Given the description of an element on the screen output the (x, y) to click on. 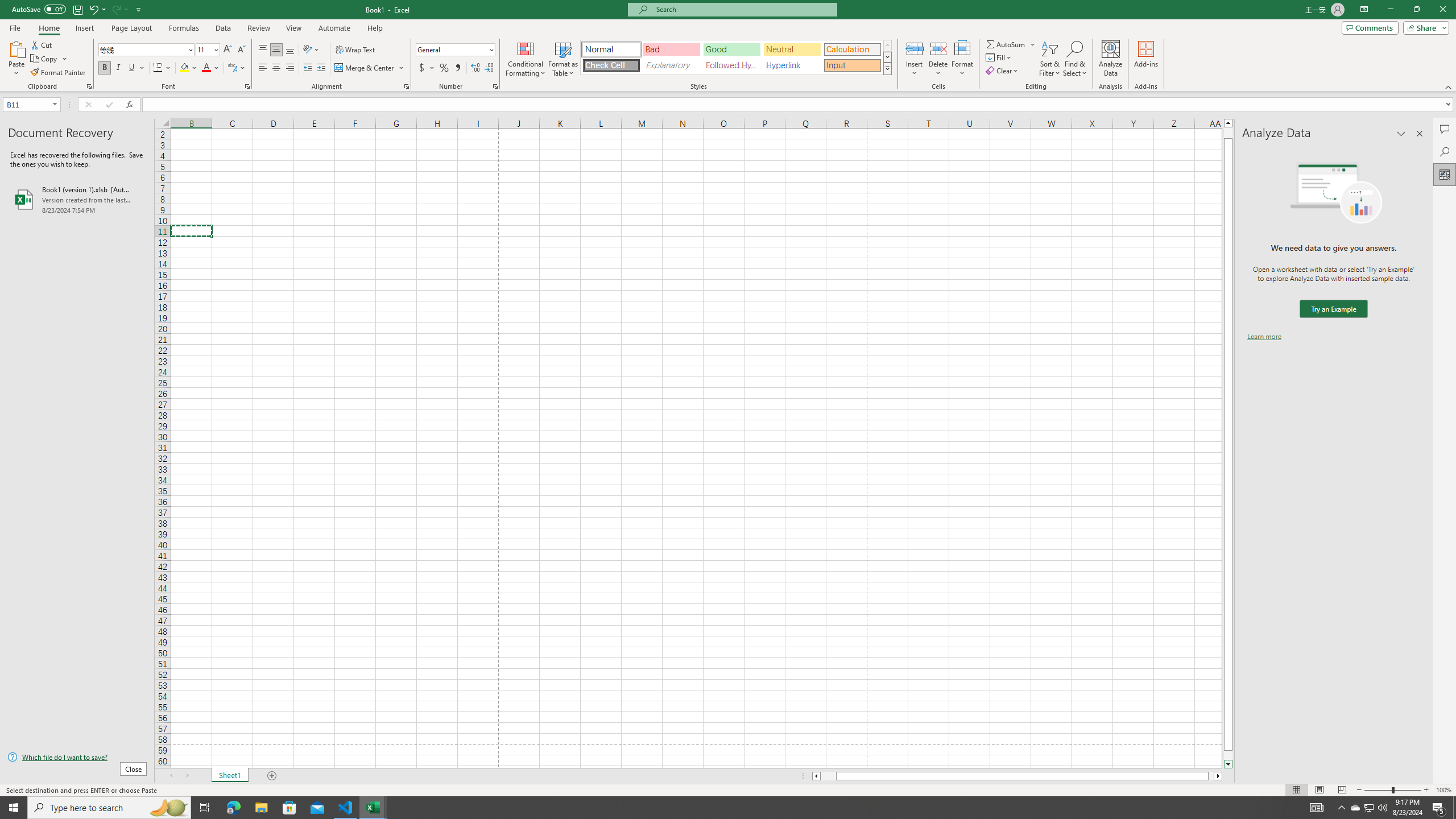
Bottom Align (290, 49)
Merge & Center (365, 67)
Fill Color RGB(255, 255, 0) (183, 67)
Paste (16, 48)
Accounting Number Format (426, 67)
Font Color (210, 67)
